Given the description of an element on the screen output the (x, y) to click on. 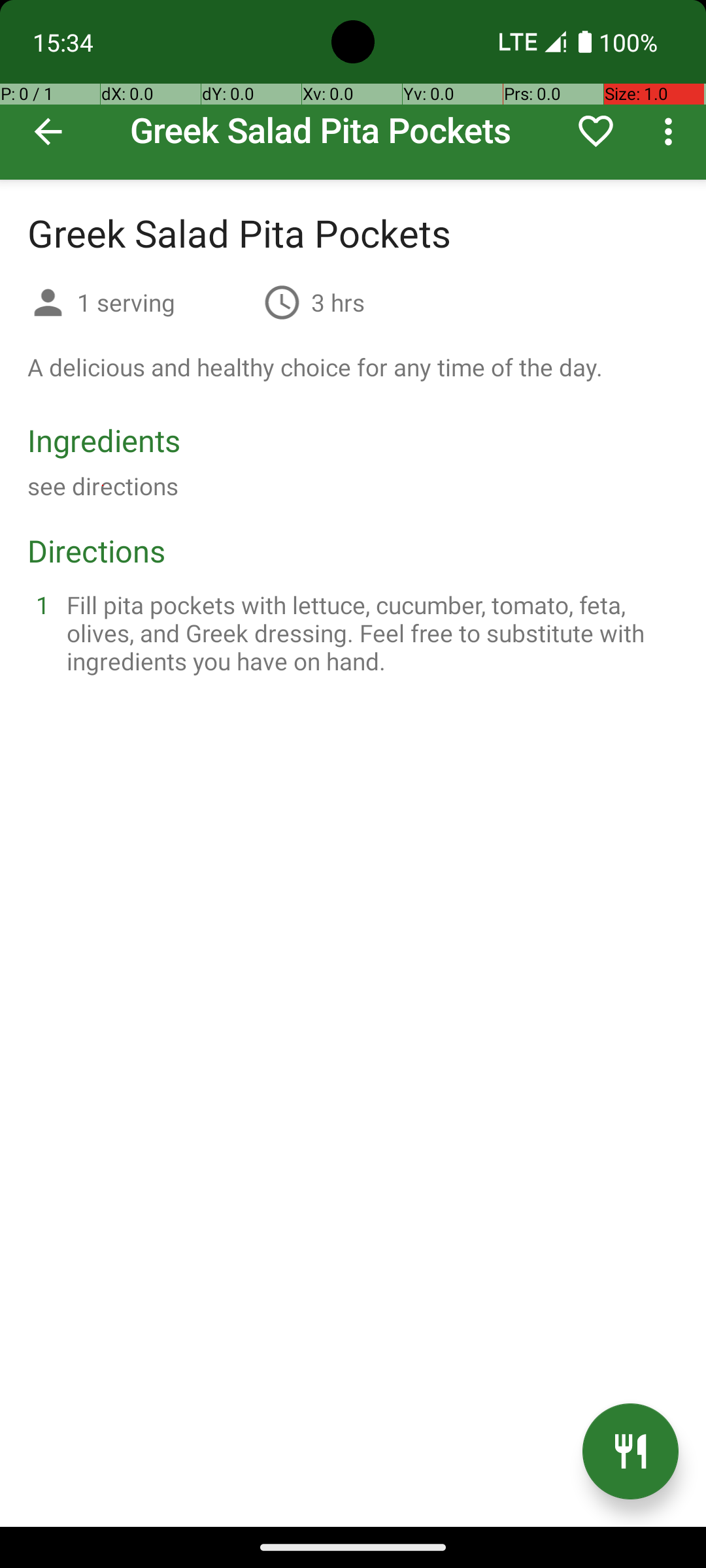
Fill pita pockets with lettuce, cucumber, tomato, feta, olives, and Greek dressing. Feel free to substitute with ingredients you have on hand. Element type: android.widget.TextView (368, 632)
